Given the description of an element on the screen output the (x, y) to click on. 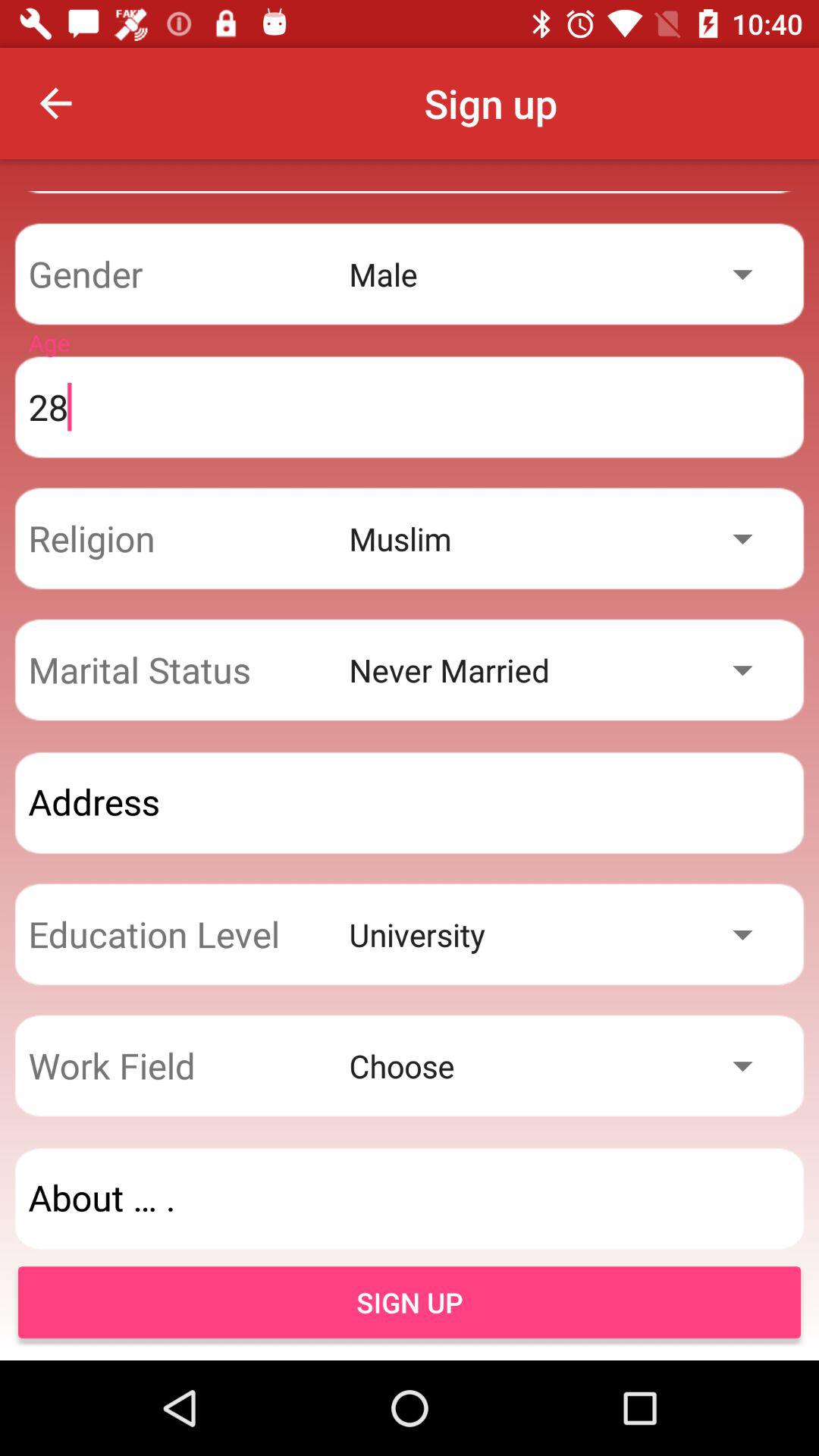
about (409, 1198)
